Given the description of an element on the screen output the (x, y) to click on. 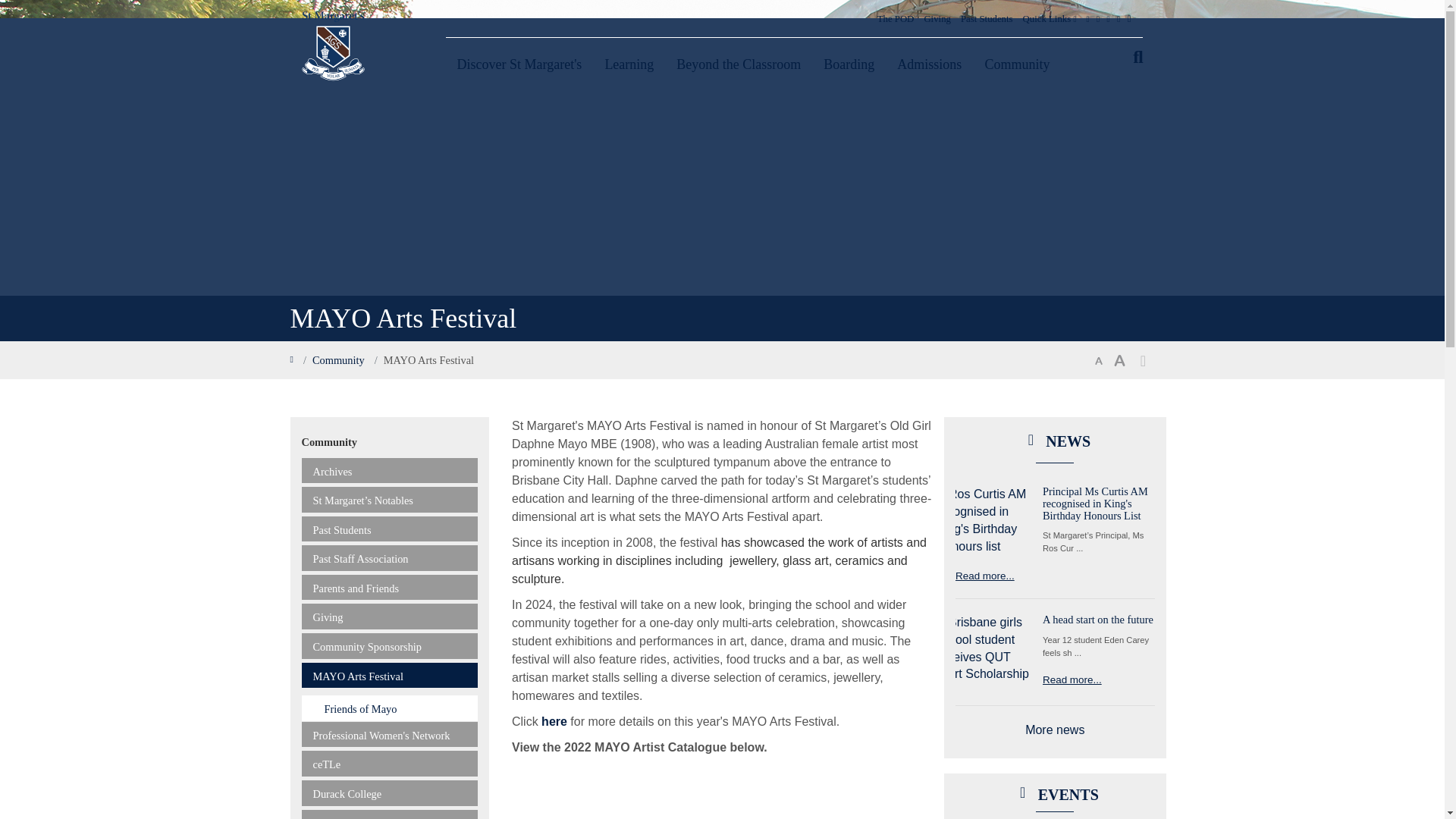
Giving (937, 18)
Print page (1142, 360)
Facebook (1086, 18)
Past Students (986, 18)
Mobile (1128, 18)
Discover St Margaret's (519, 64)
Quick Links (1049, 18)
Youtube (1108, 18)
The POD (896, 18)
Search (1137, 56)
Twitter (1098, 18)
LinkedIn (1118, 18)
